Given the description of an element on the screen output the (x, y) to click on. 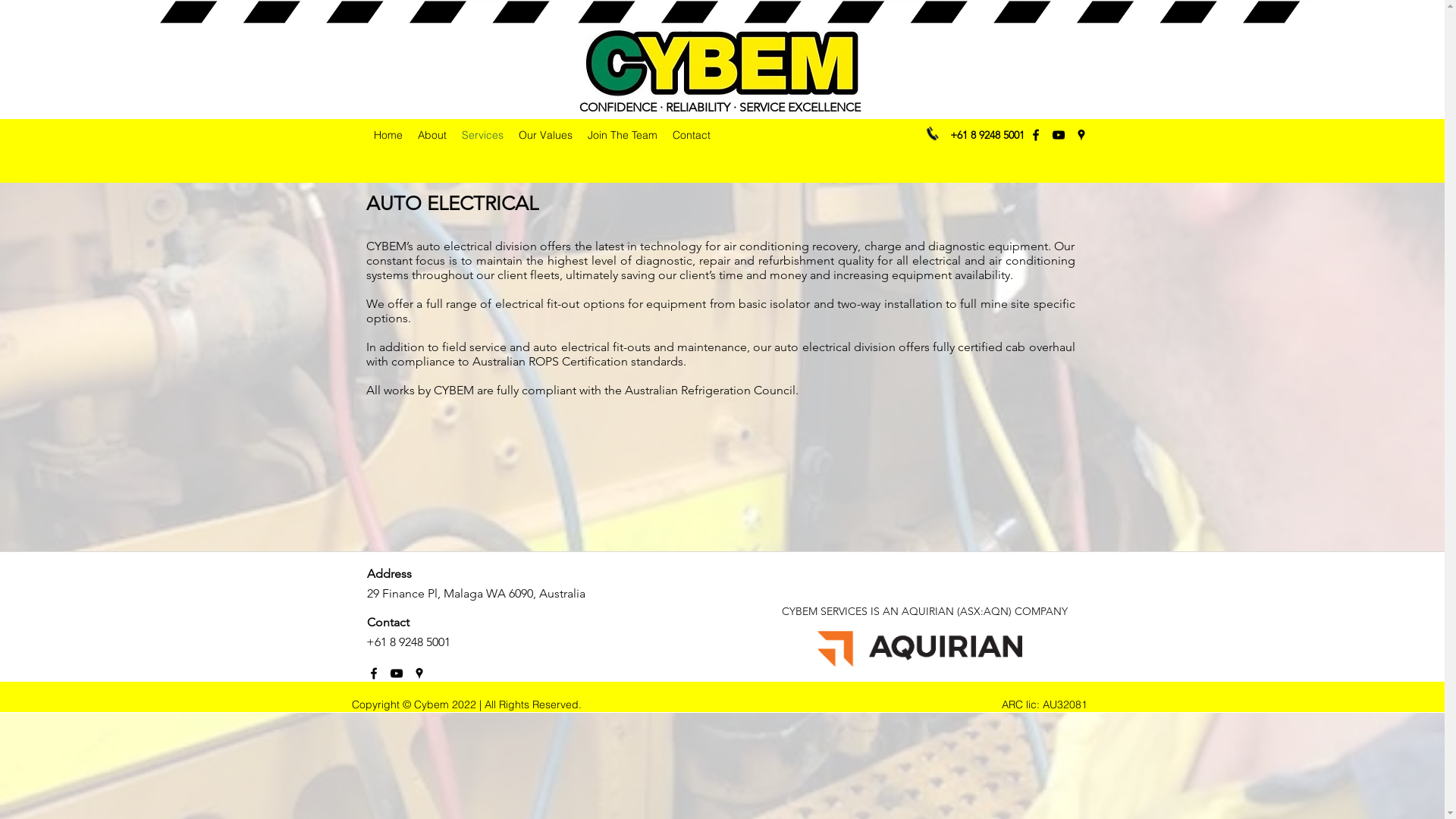
Home Element type: text (387, 134)
CYBEM.png Element type: hover (721, 62)
Our Values Element type: text (545, 134)
Services Element type: text (481, 134)
Contact Element type: text (690, 134)
Join The Team Element type: text (621, 134)
About Element type: text (431, 134)
